Given the description of an element on the screen output the (x, y) to click on. 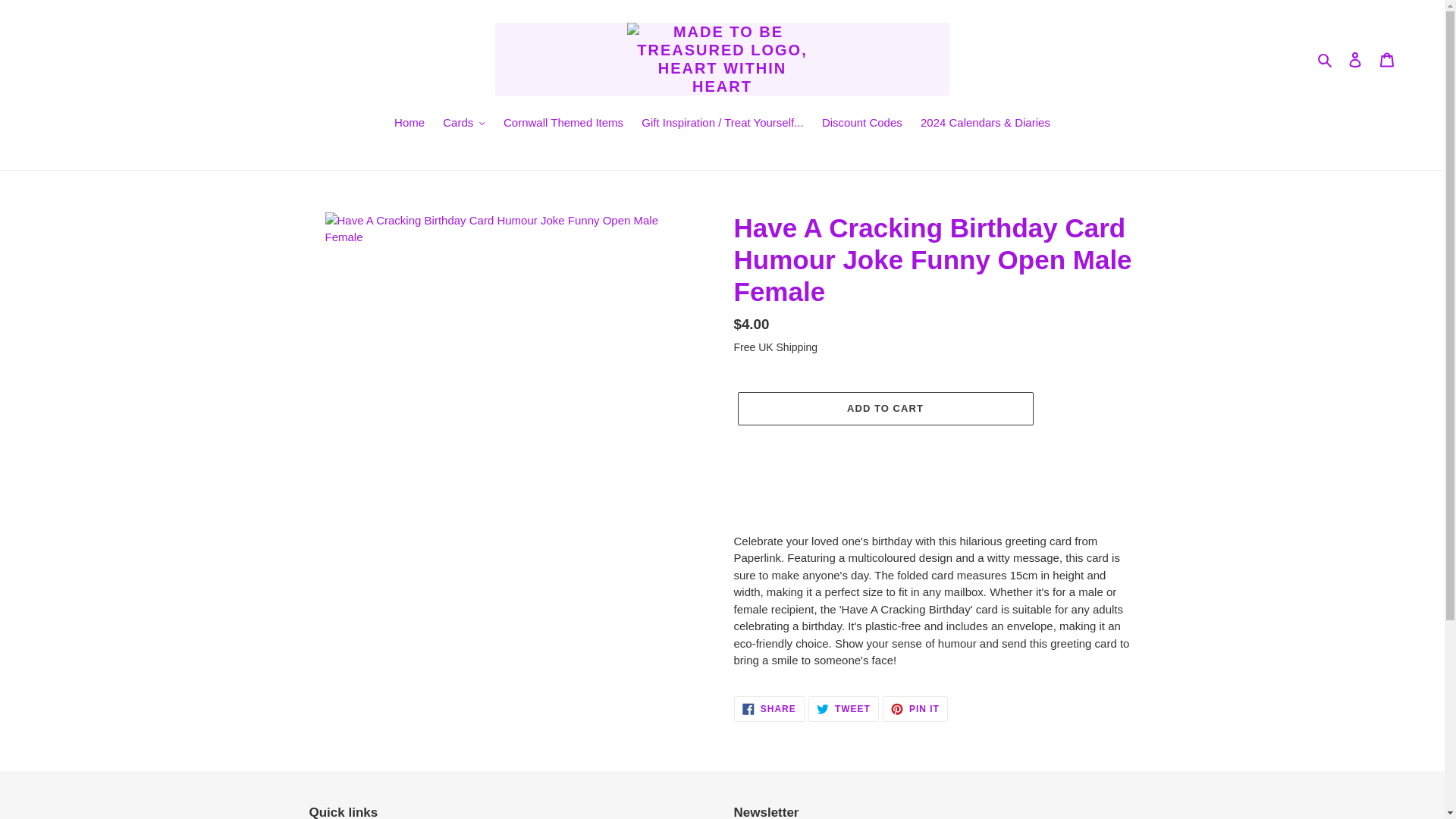
Cards (464, 124)
Cart (1387, 59)
Log in (1355, 59)
Search (1326, 58)
Home (409, 124)
